Given the description of an element on the screen output the (x, y) to click on. 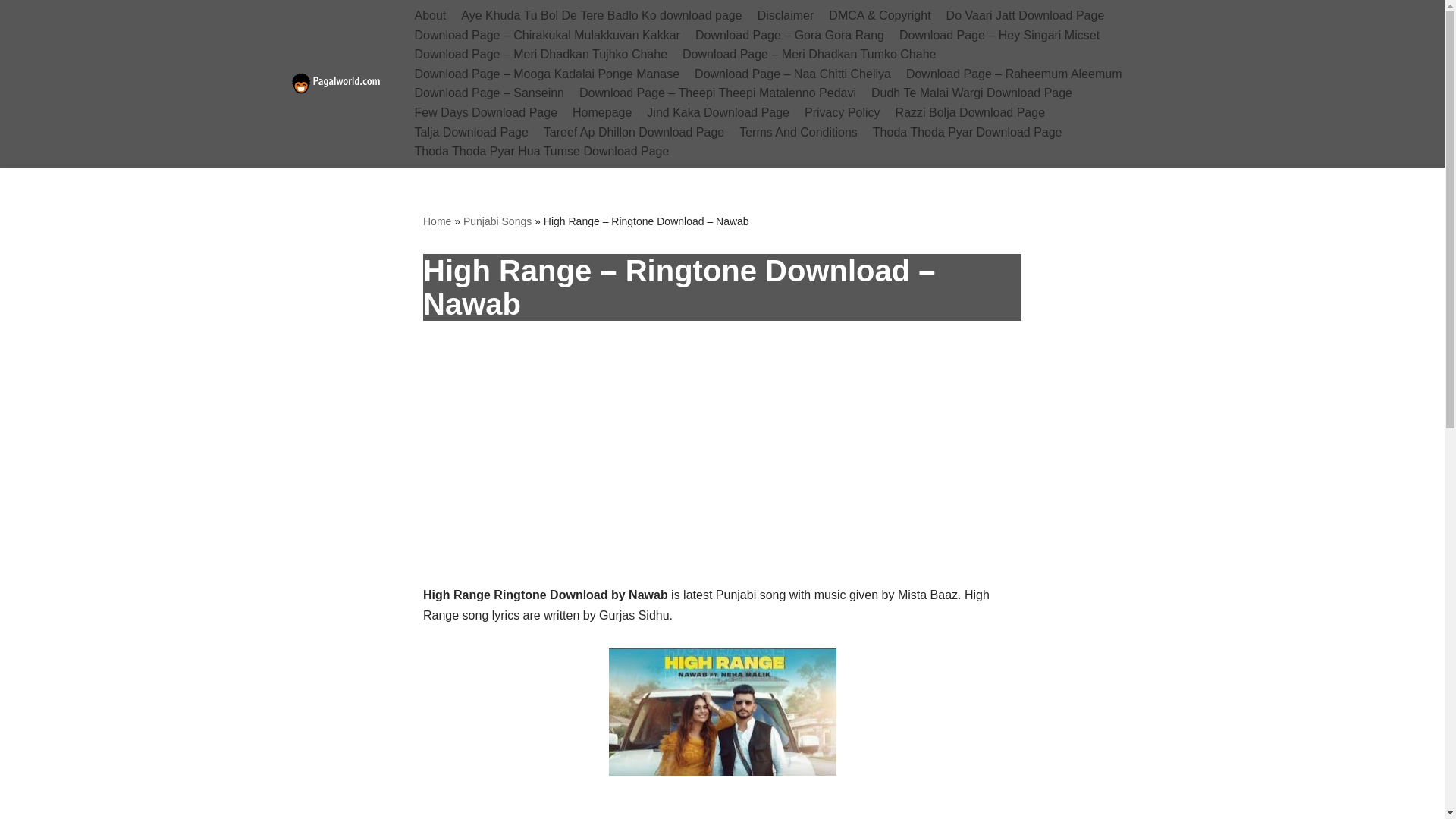
Dudh Te Malai Wargi Download Page (970, 93)
Disclaimer (785, 15)
PagalWorld.Com (340, 83)
Advertisement (722, 472)
Thoda Thoda Pyar Hua Tumse Download Page (540, 151)
Terms And Conditions (798, 132)
Thoda Thoda Pyar Download Page (967, 132)
Skip to content (11, 31)
Aye Khuda Tu Bol De Tere Badlo Ko download page (601, 15)
Do Vaari Jatt Download Page (1025, 15)
Tareef Ap Dhillon Download Page (633, 132)
Privacy Policy (842, 112)
Talja Download Page (470, 132)
About (429, 15)
Razzi Bolja Download Page (970, 112)
